Given the description of an element on the screen output the (x, y) to click on. 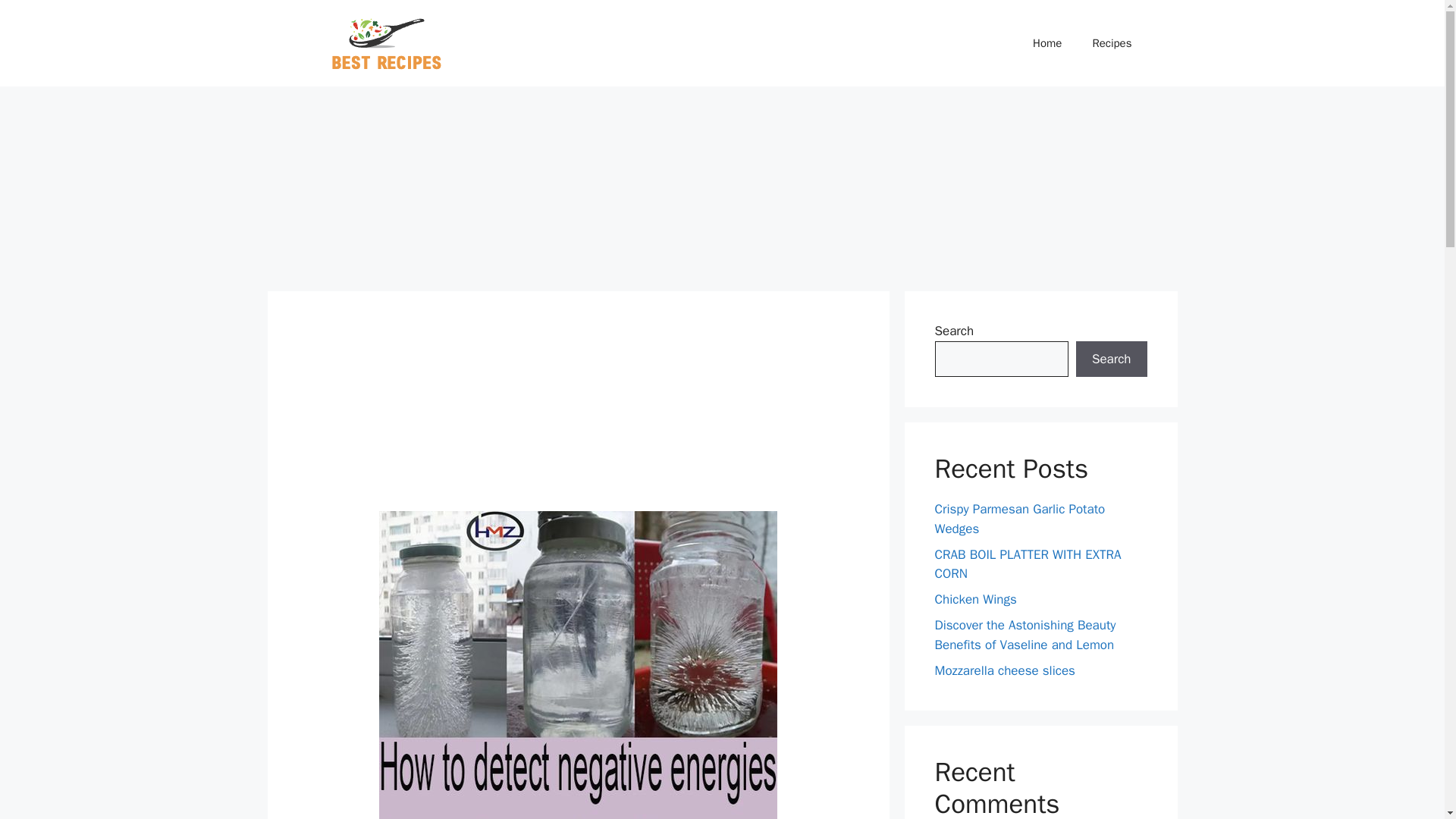
Home (1047, 43)
Search (1111, 359)
Mozzarella cheese slices (1004, 670)
CRAB BOIL PLATTER WITH EXTRA CORN (1027, 563)
Crispy Parmesan Garlic Potato Wedges (1019, 519)
Chicken Wings (975, 599)
Recipes (1112, 43)
